Given the description of an element on the screen output the (x, y) to click on. 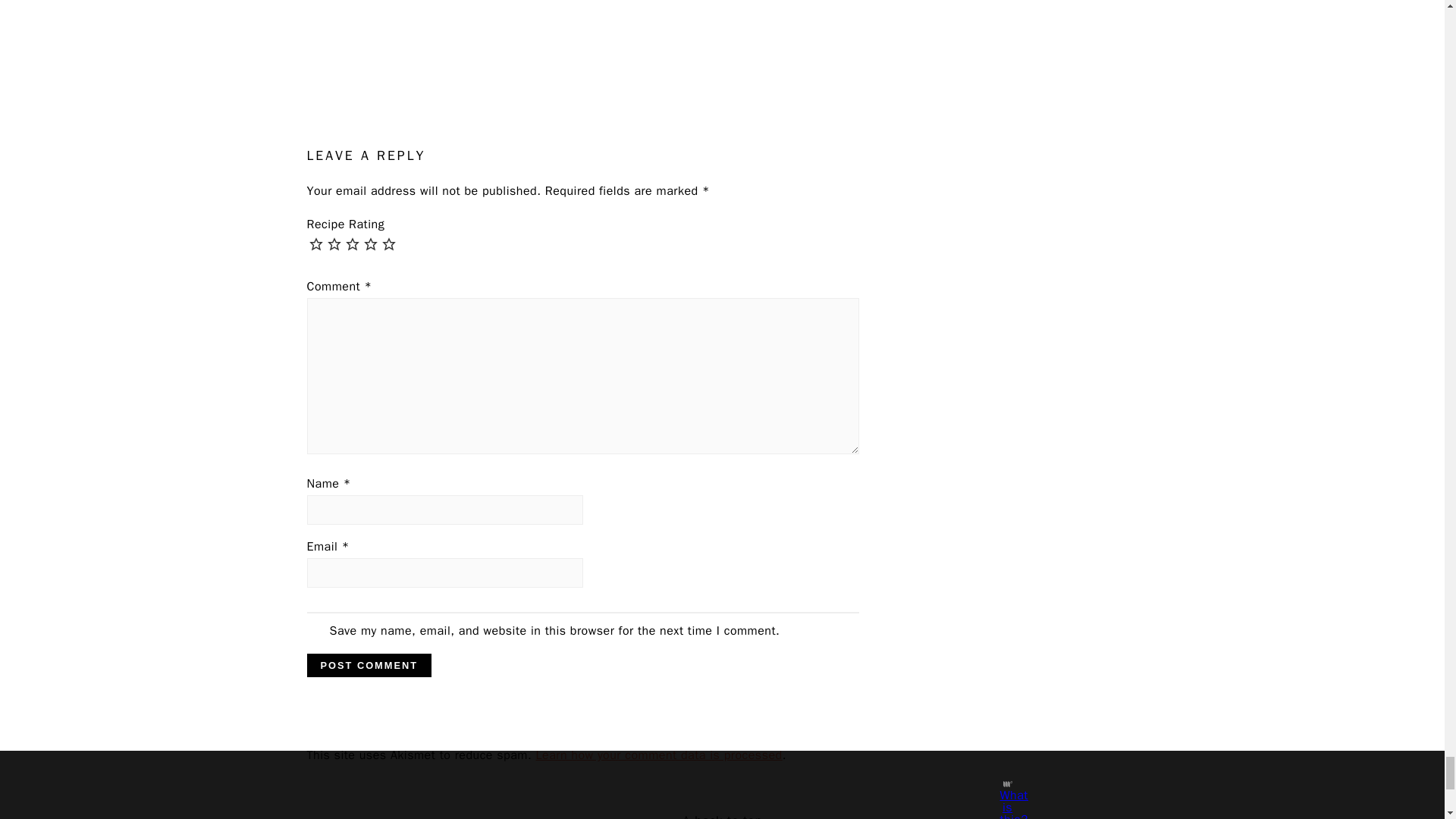
Post Comment (367, 665)
